Given the description of an element on the screen output the (x, y) to click on. 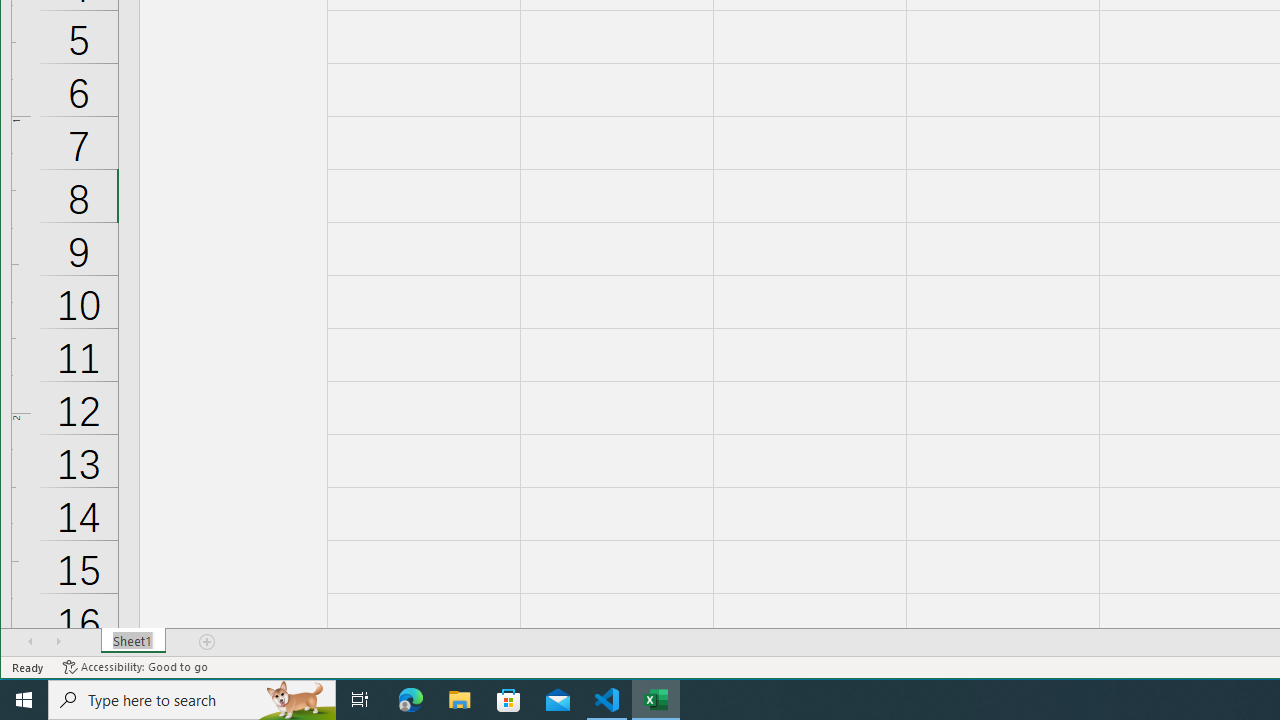
Accessibility Checker Accessibility: Good to go (135, 667)
Visual Studio Code - 1 running window (607, 699)
Sheet Tab (133, 641)
Task View (359, 699)
Excel - 1 running window (656, 699)
Add Sheet (207, 641)
Search highlights icon opens search home window (295, 699)
Microsoft Store (509, 699)
File Explorer (460, 699)
Sheet1 (133, 641)
Microsoft Edge (411, 699)
Type here to search (191, 699)
Scroll Right (58, 641)
Scroll Left (30, 641)
